Given the description of an element on the screen output the (x, y) to click on. 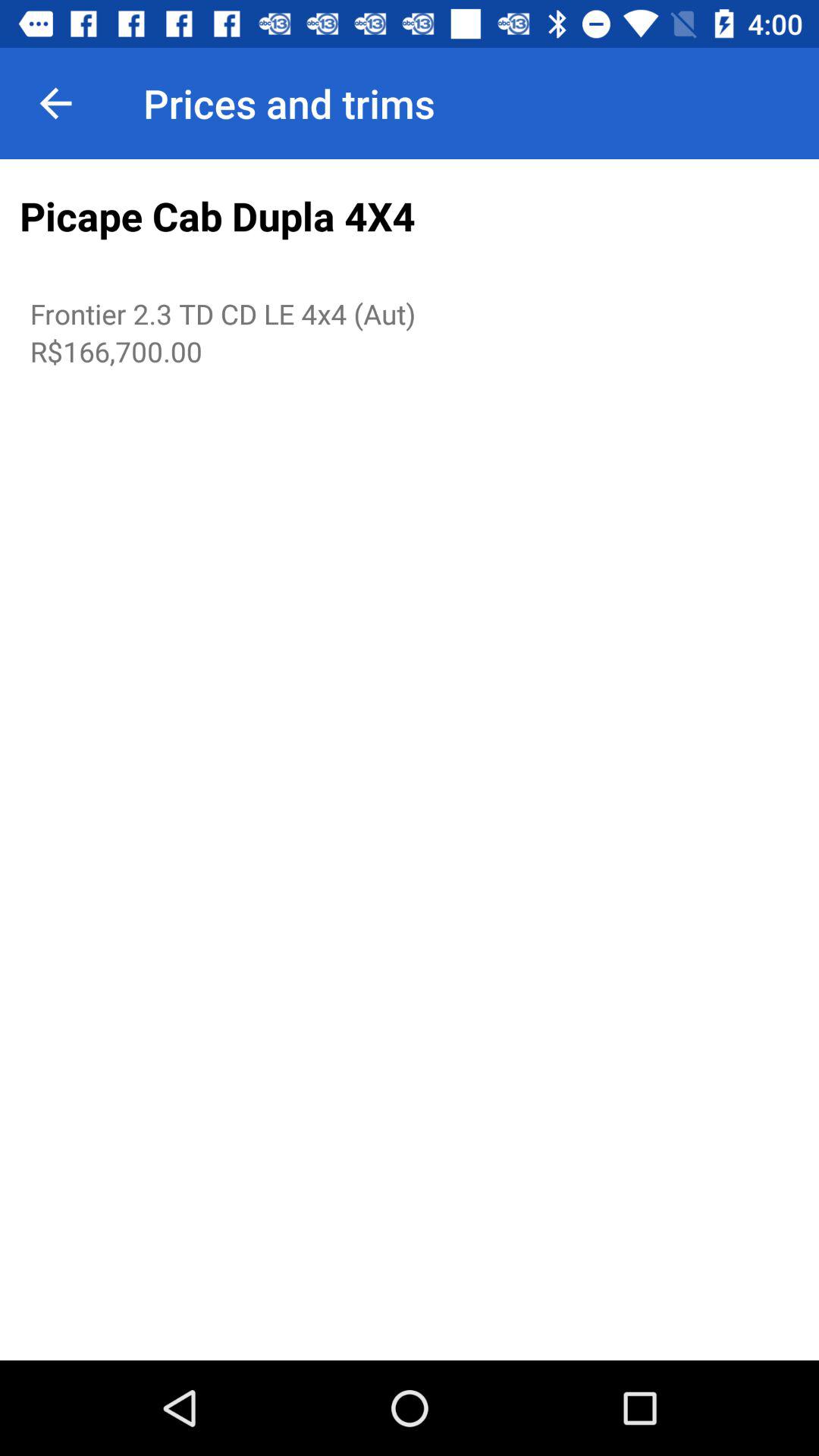
click the picape cab dupla (409, 217)
